Given the description of an element on the screen output the (x, y) to click on. 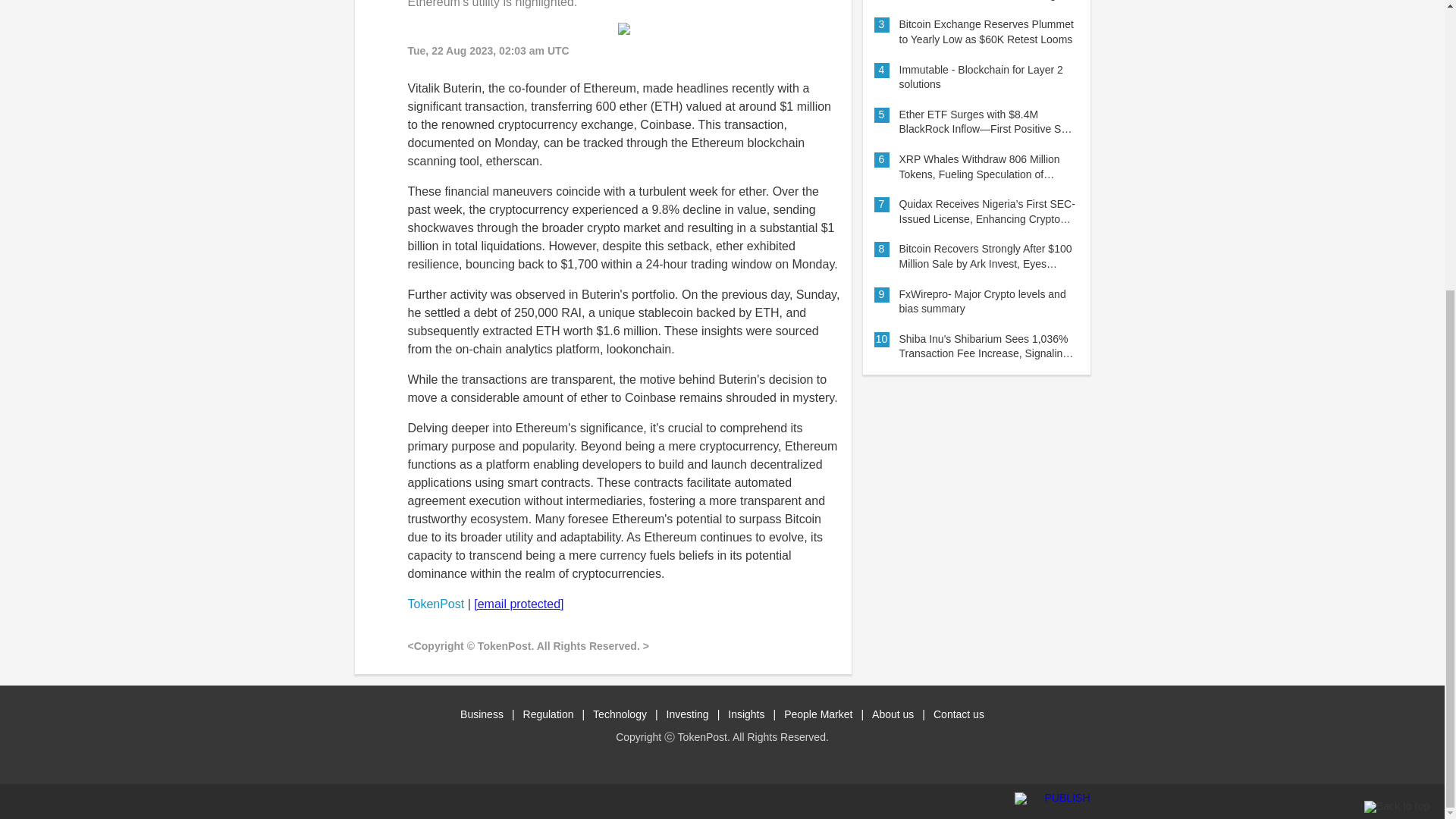
Immutable - Blockchain for Layer 2 solutions (987, 77)
TokenPost (435, 603)
